Given the description of an element on the screen output the (x, y) to click on. 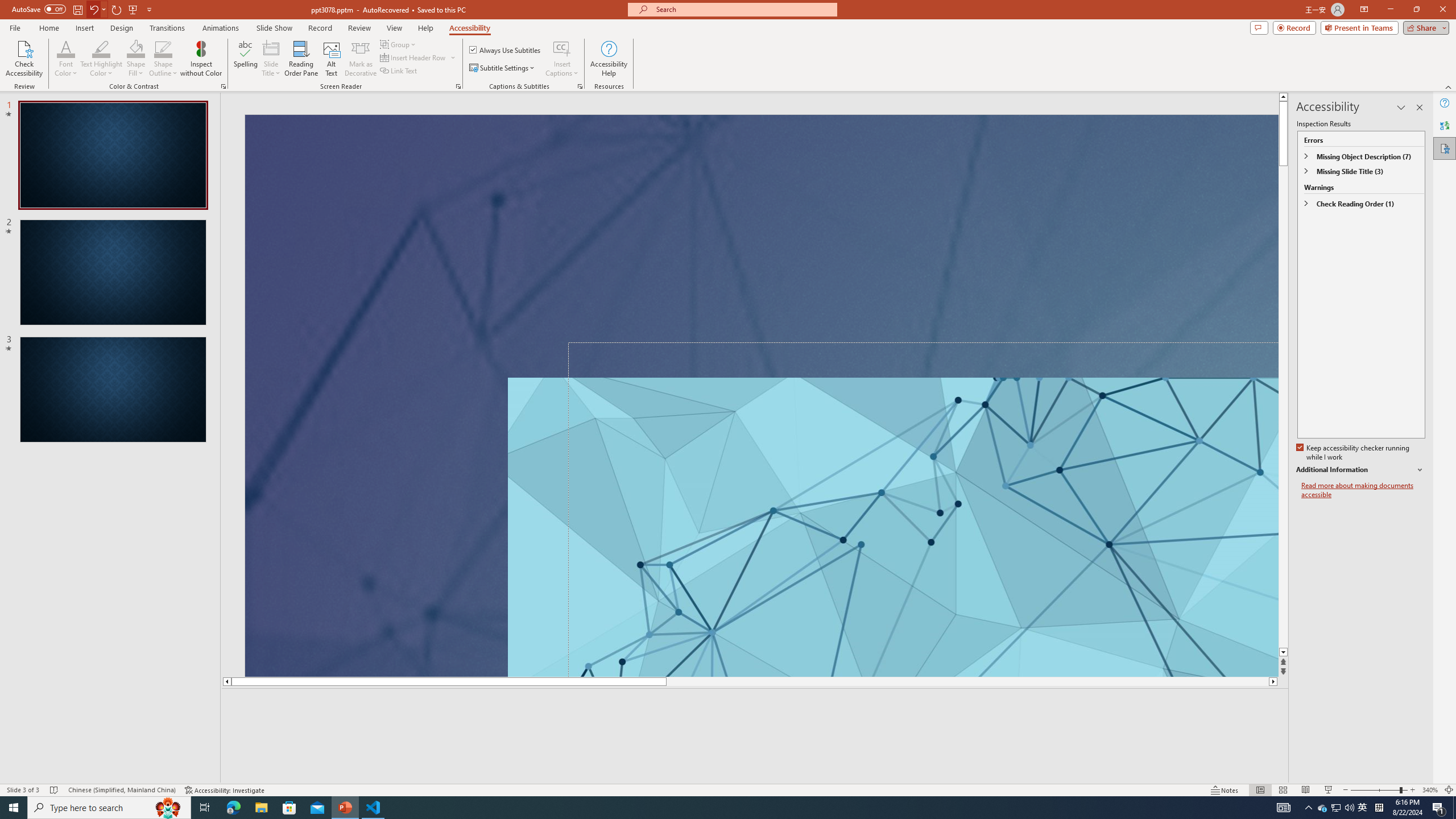
Reading Order Pane (301, 58)
Screen Reader (458, 85)
Accessibility Help (608, 58)
